Given the description of an element on the screen output the (x, y) to click on. 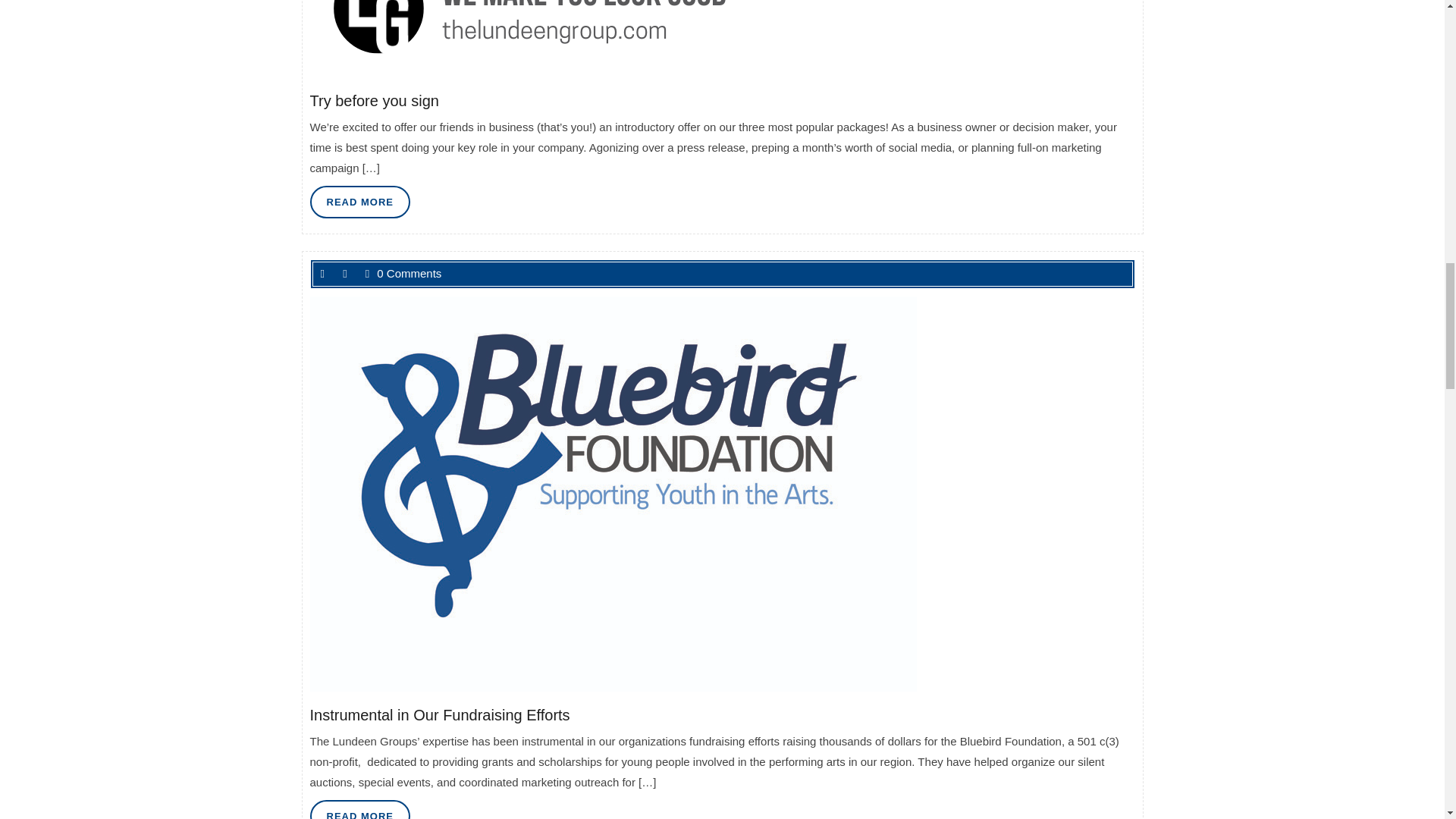
READ MORE (358, 809)
READ MORE (358, 201)
